Given the description of an element on the screen output the (x, y) to click on. 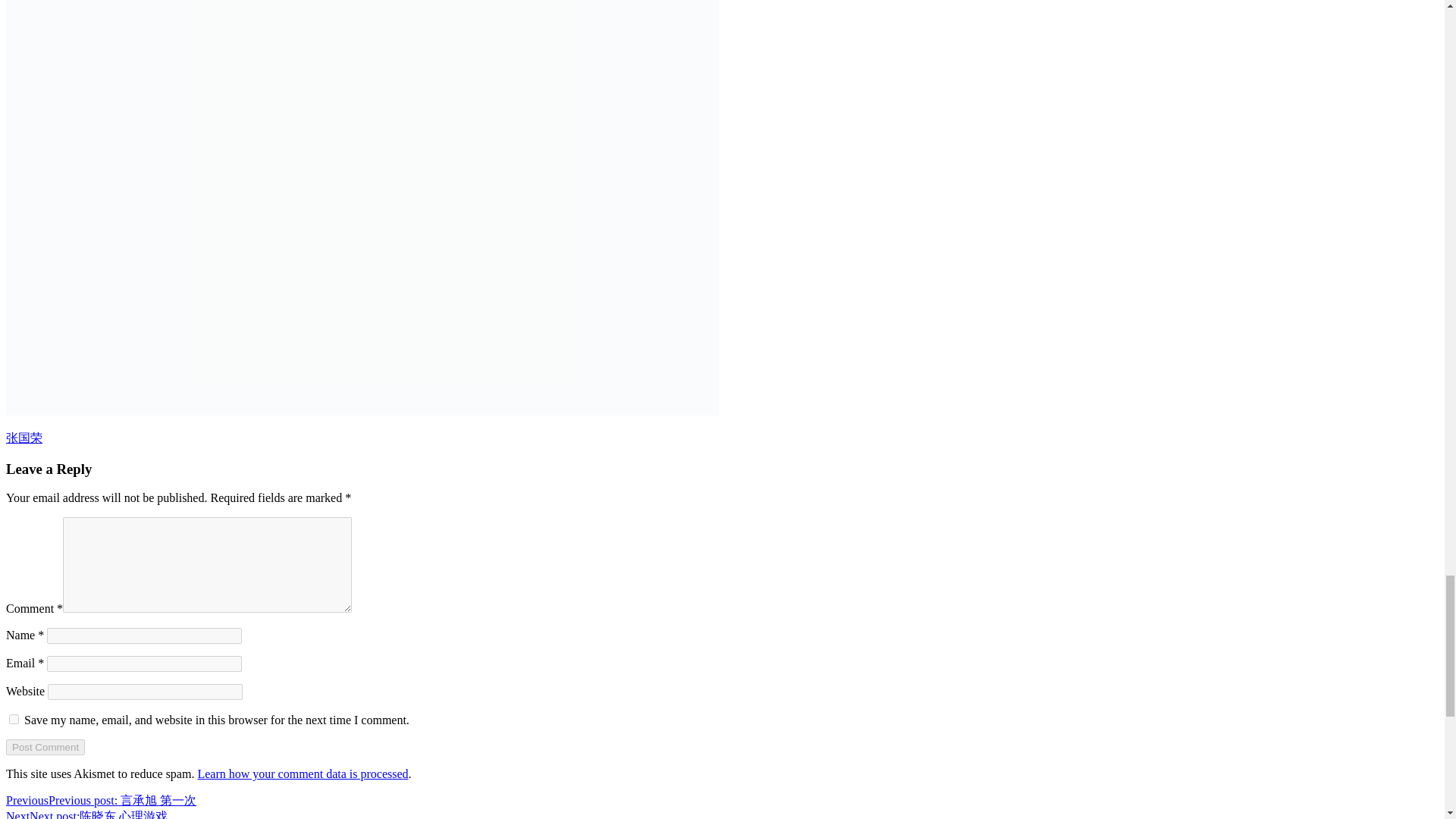
yes (13, 718)
Post Comment (44, 747)
Learn how your comment data is processed (301, 773)
Post Comment (44, 747)
